Given the description of an element on the screen output the (x, y) to click on. 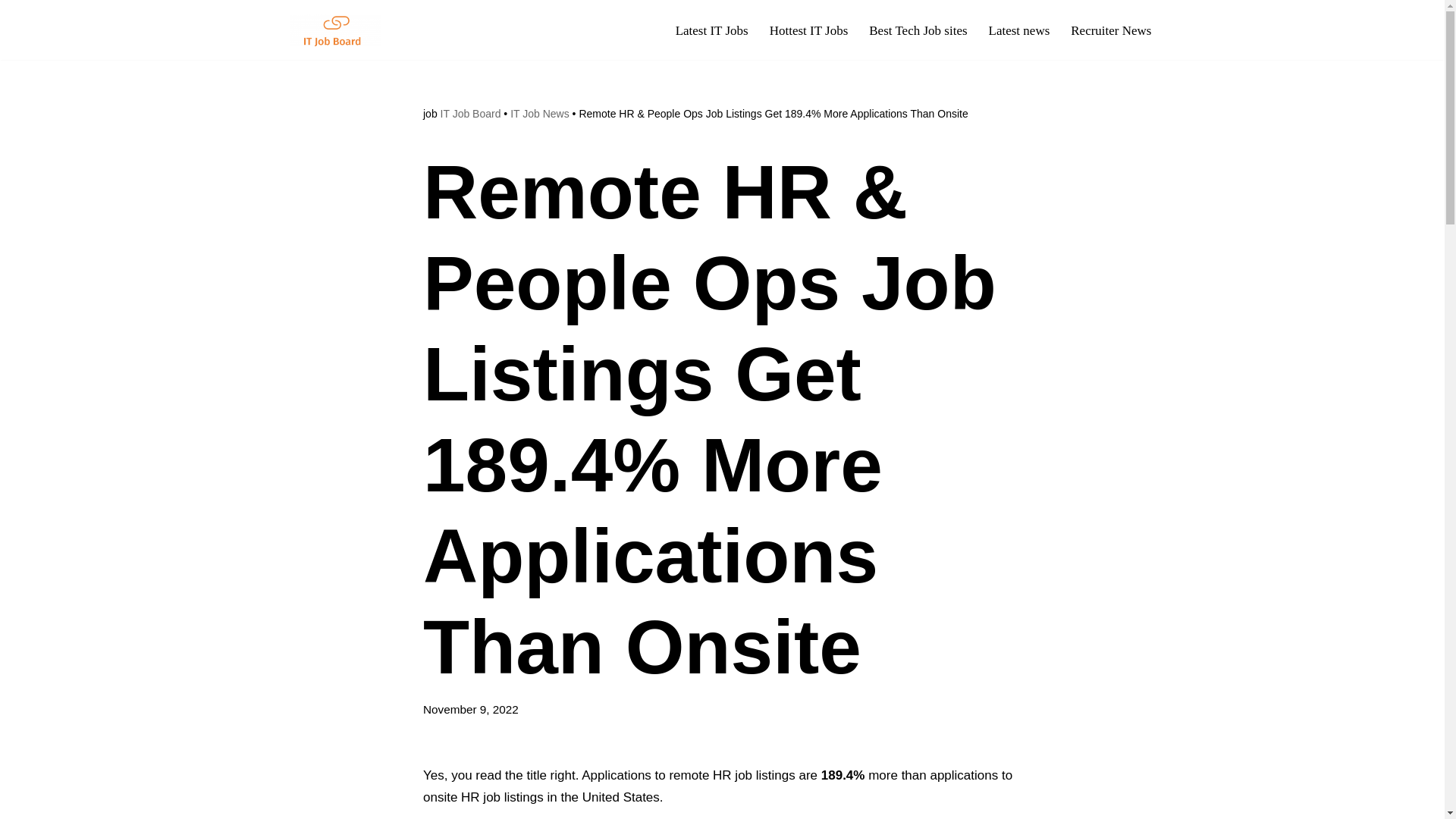
IT Job News (540, 113)
Latest news (1018, 29)
Latest IT Jobs (711, 29)
Recruiter News (1110, 29)
Hottest IT Jobs (809, 29)
Skip to content (11, 31)
Best Tech Job sites (917, 29)
IT Job Board (470, 113)
